Given the description of an element on the screen output the (x, y) to click on. 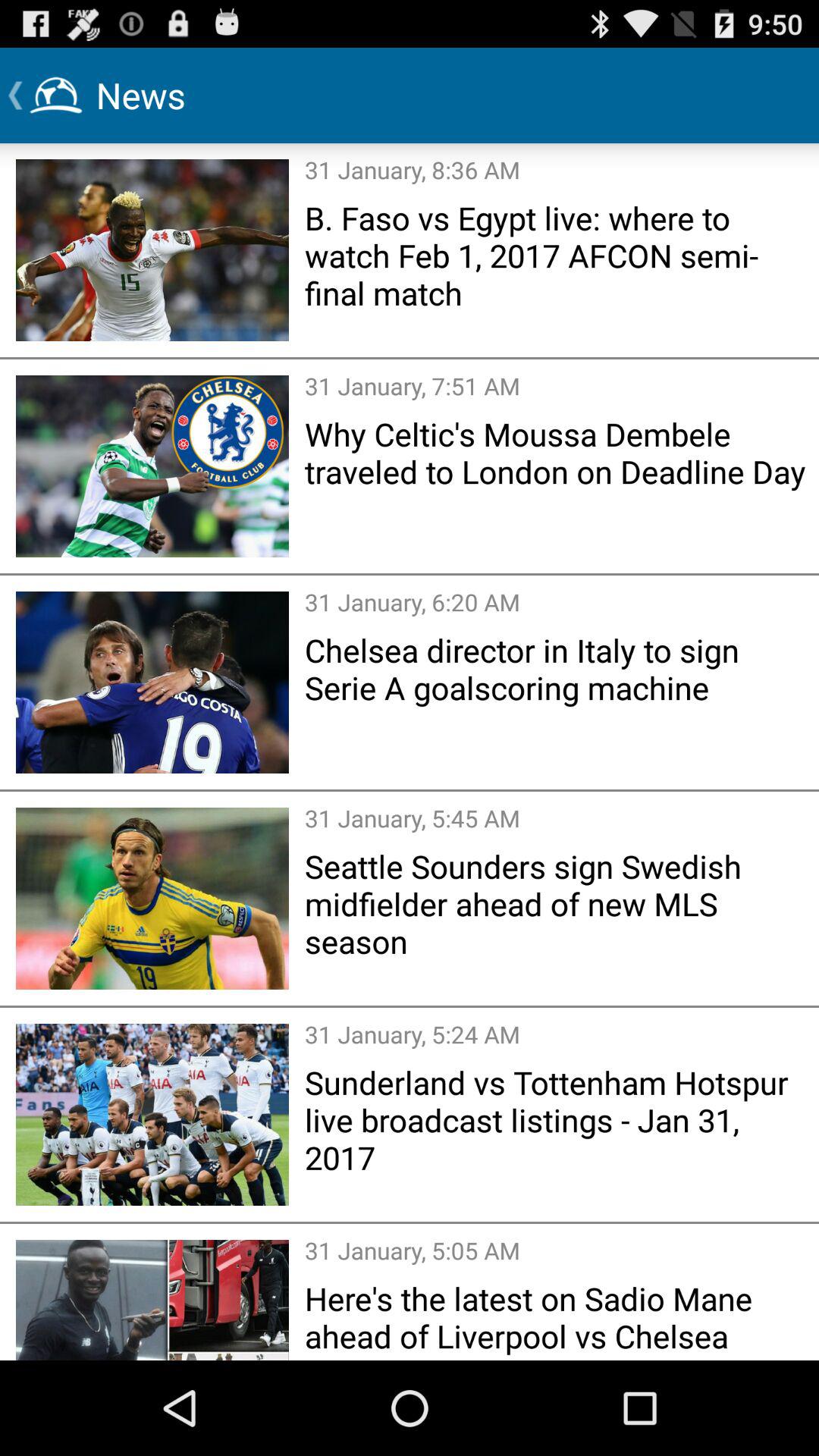
press the b faso vs icon (556, 255)
